Given the description of an element on the screen output the (x, y) to click on. 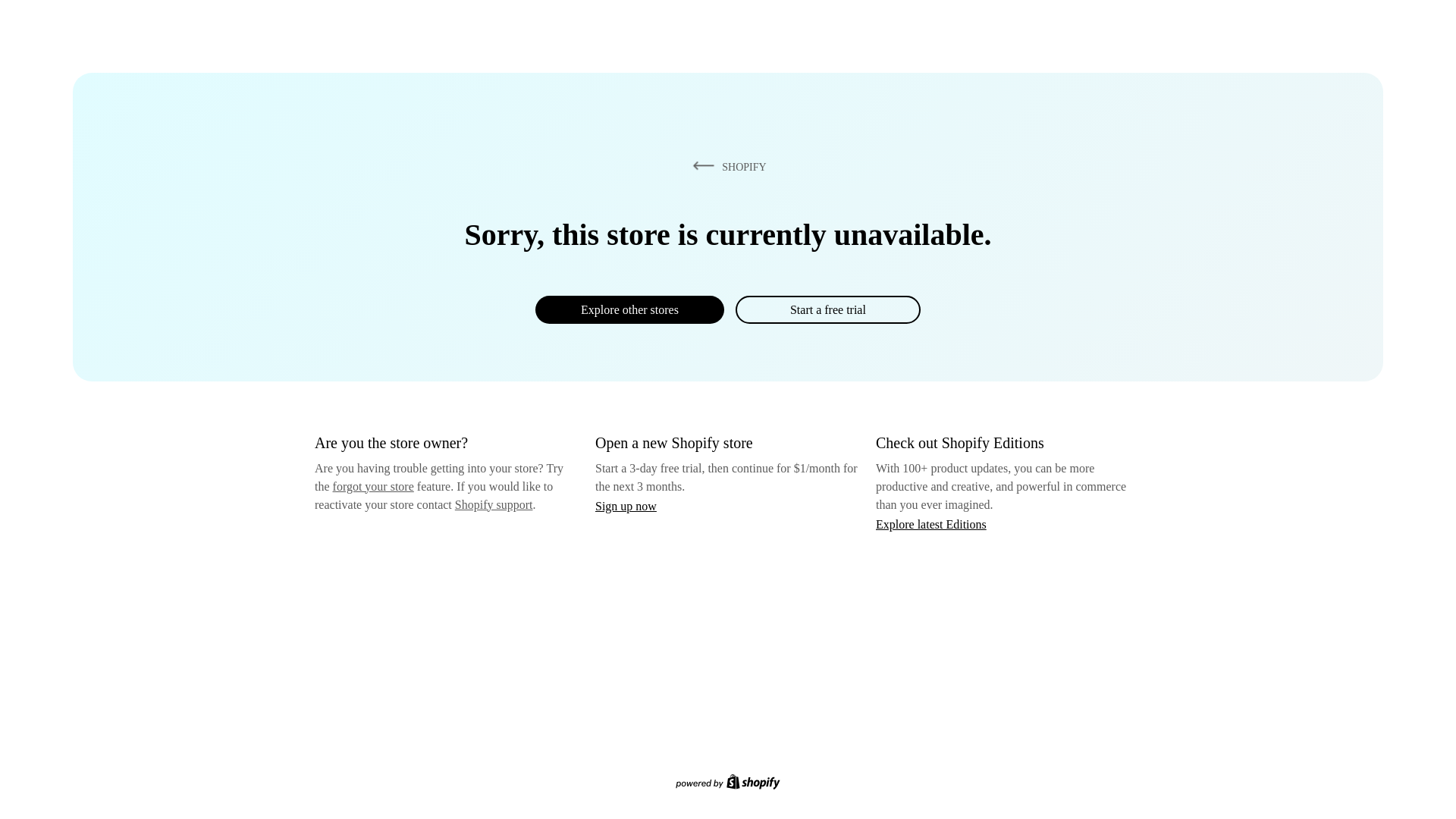
Explore latest Editions (931, 523)
Explore other stores (629, 309)
Shopify support (493, 504)
forgot your store (373, 486)
SHOPIFY (726, 166)
Start a free trial (827, 309)
Sign up now (625, 505)
